Given the description of an element on the screen output the (x, y) to click on. 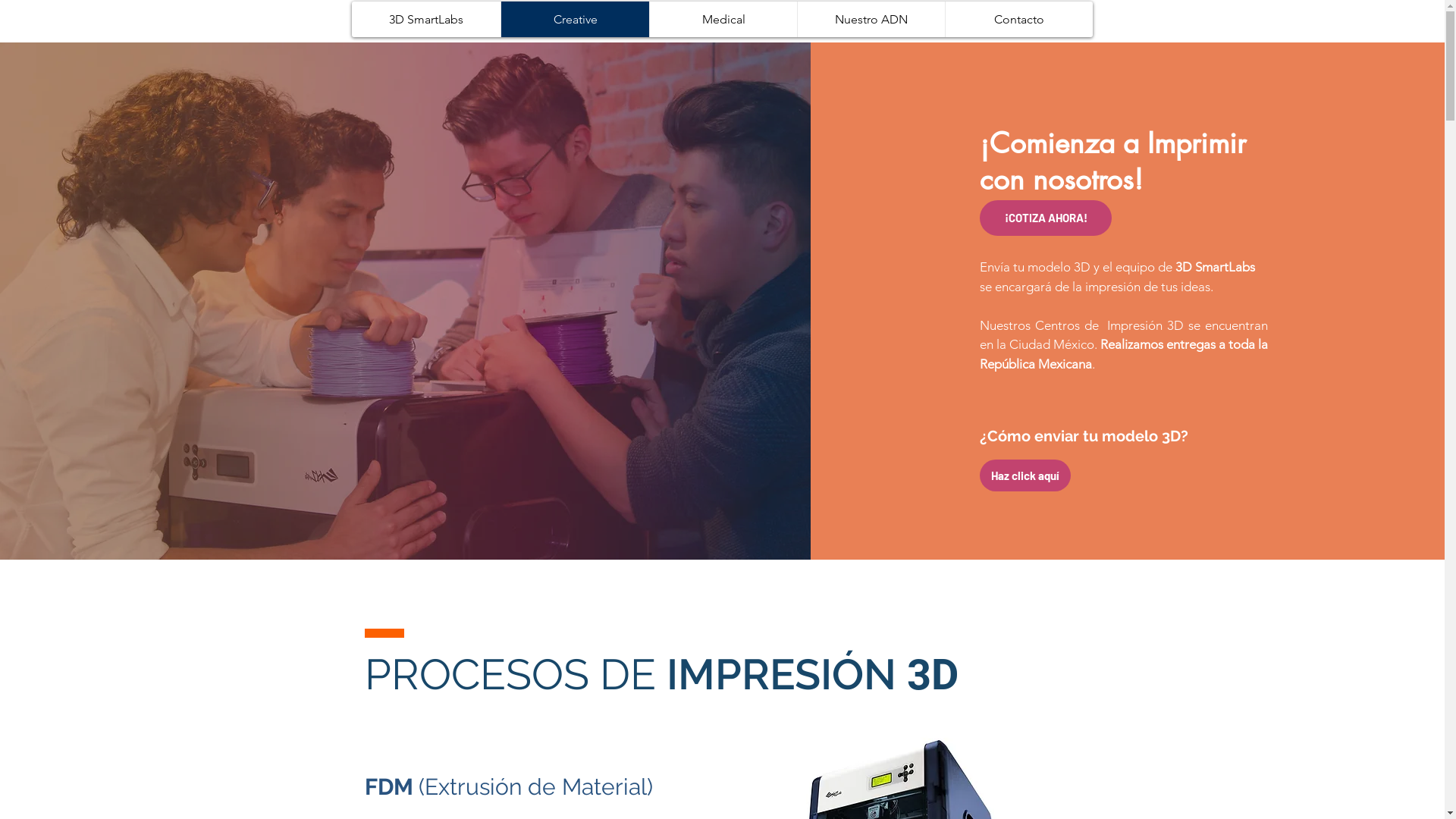
Nuestro ADN Element type: text (870, 19)
Contacto Element type: text (1018, 19)
3D SmartLabs Element type: text (425, 19)
Medical Element type: text (723, 19)
Creative Element type: text (574, 19)
